Given the description of an element on the screen output the (x, y) to click on. 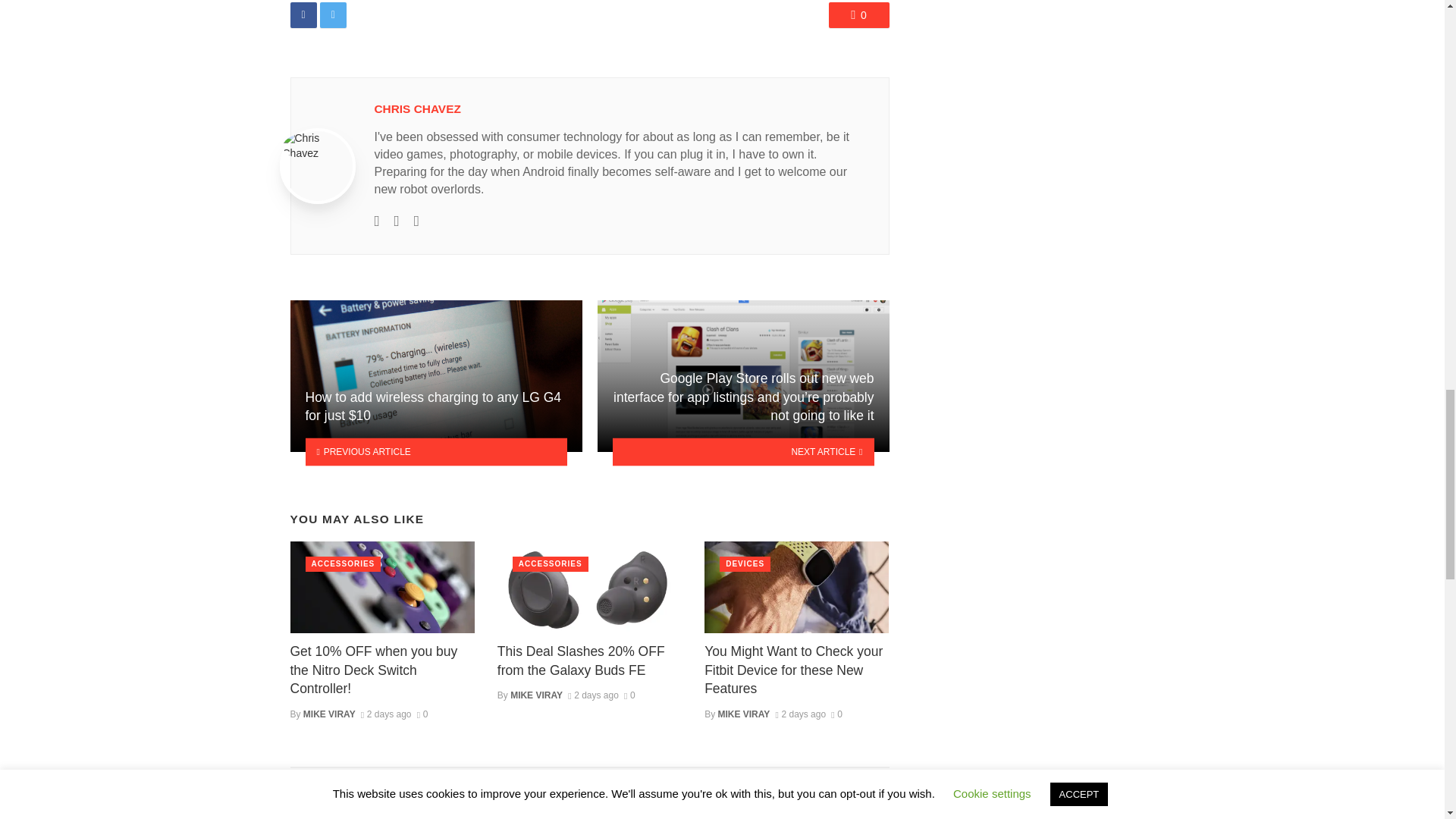
0 Comments (422, 714)
July 26, 2024 at 4:58 pm (386, 714)
Posts by Chris Chavez (417, 108)
0 (858, 14)
